Given the description of an element on the screen output the (x, y) to click on. 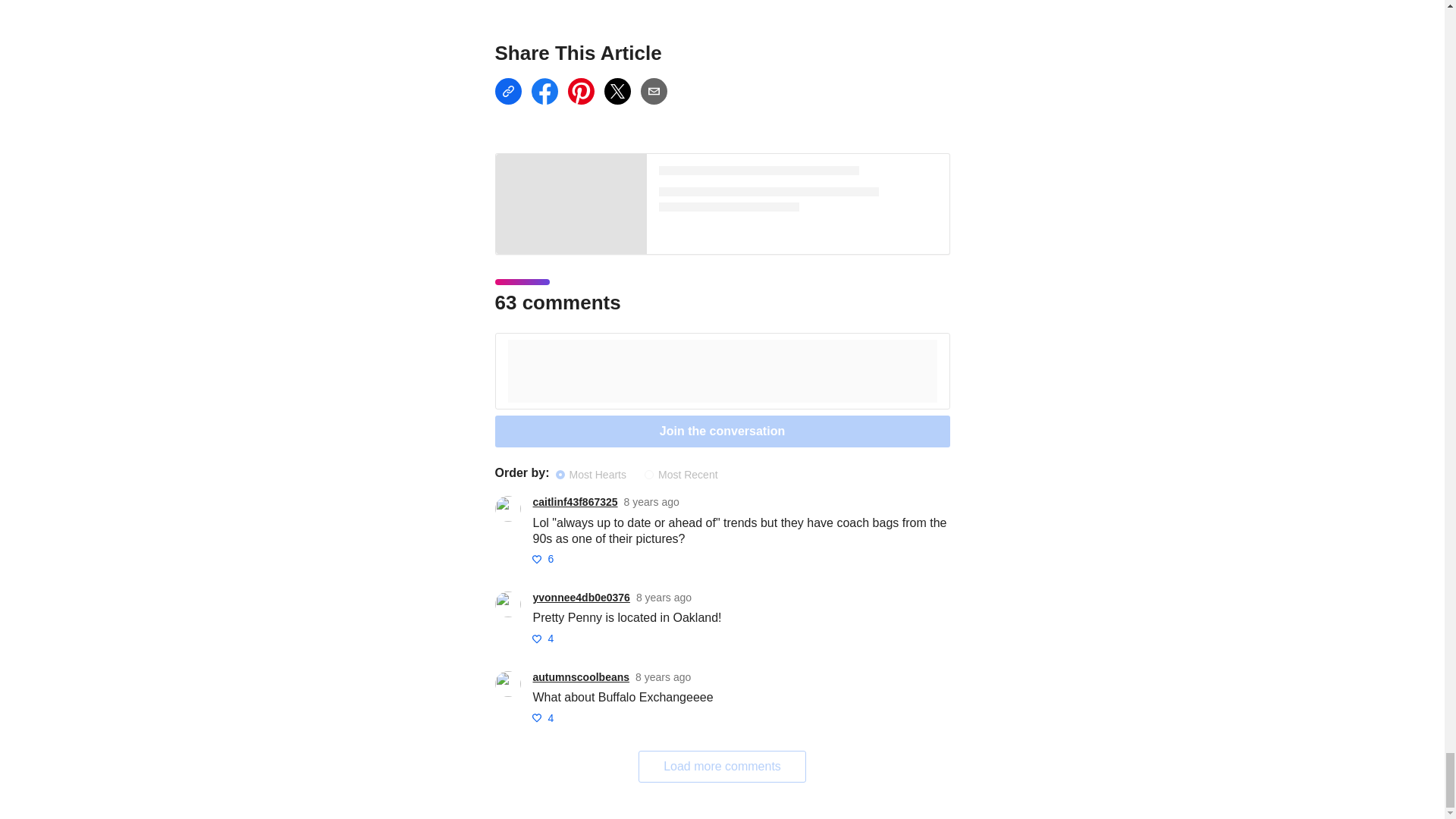
Heart (536, 559)
Twitter (617, 91)
Join the conversation (722, 431)
Link (507, 91)
Heart (536, 637)
Load more comments (722, 766)
Mail (653, 91)
Pinterest (580, 90)
Facebook (544, 90)
Heart (536, 717)
